Given the description of an element on the screen output the (x, y) to click on. 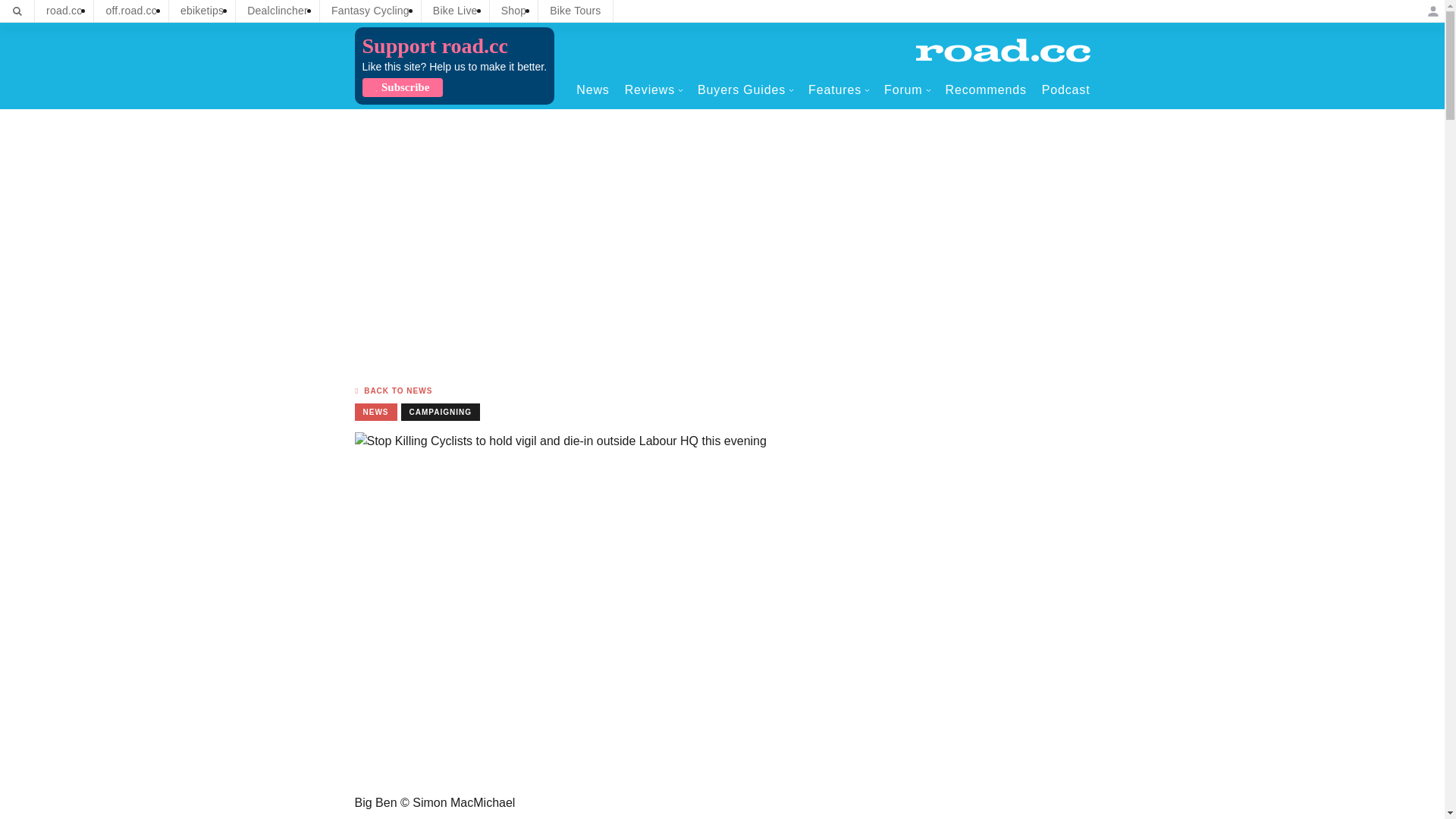
Dealclincher (276, 11)
Home (1002, 50)
ebiketips (201, 11)
Bike Tours (574, 11)
Reviews (653, 89)
Bike Live (455, 11)
off.road.cc (131, 11)
Shop (513, 11)
Subscribe (402, 87)
Fantasy Cycling (370, 11)
road.cc (63, 11)
